Given the description of an element on the screen output the (x, y) to click on. 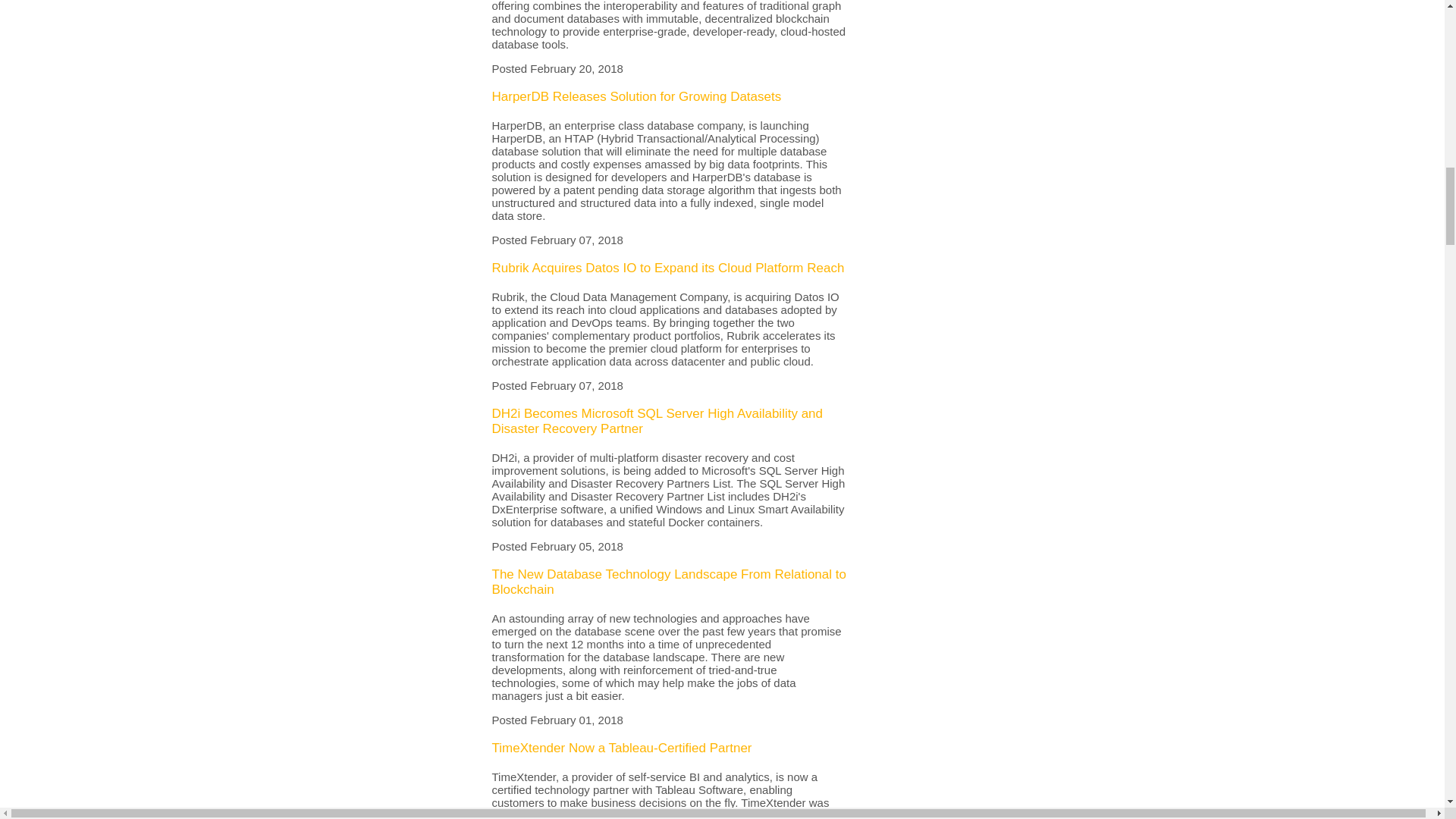
Rubrik Acquires Datos IO to Expand its Cloud Platform Reach (668, 268)
TimeXtender Now a Tableau-Certified Partner (621, 748)
HarperDB Releases Solution for Growing Datasets (636, 96)
